Given the description of an element on the screen output the (x, y) to click on. 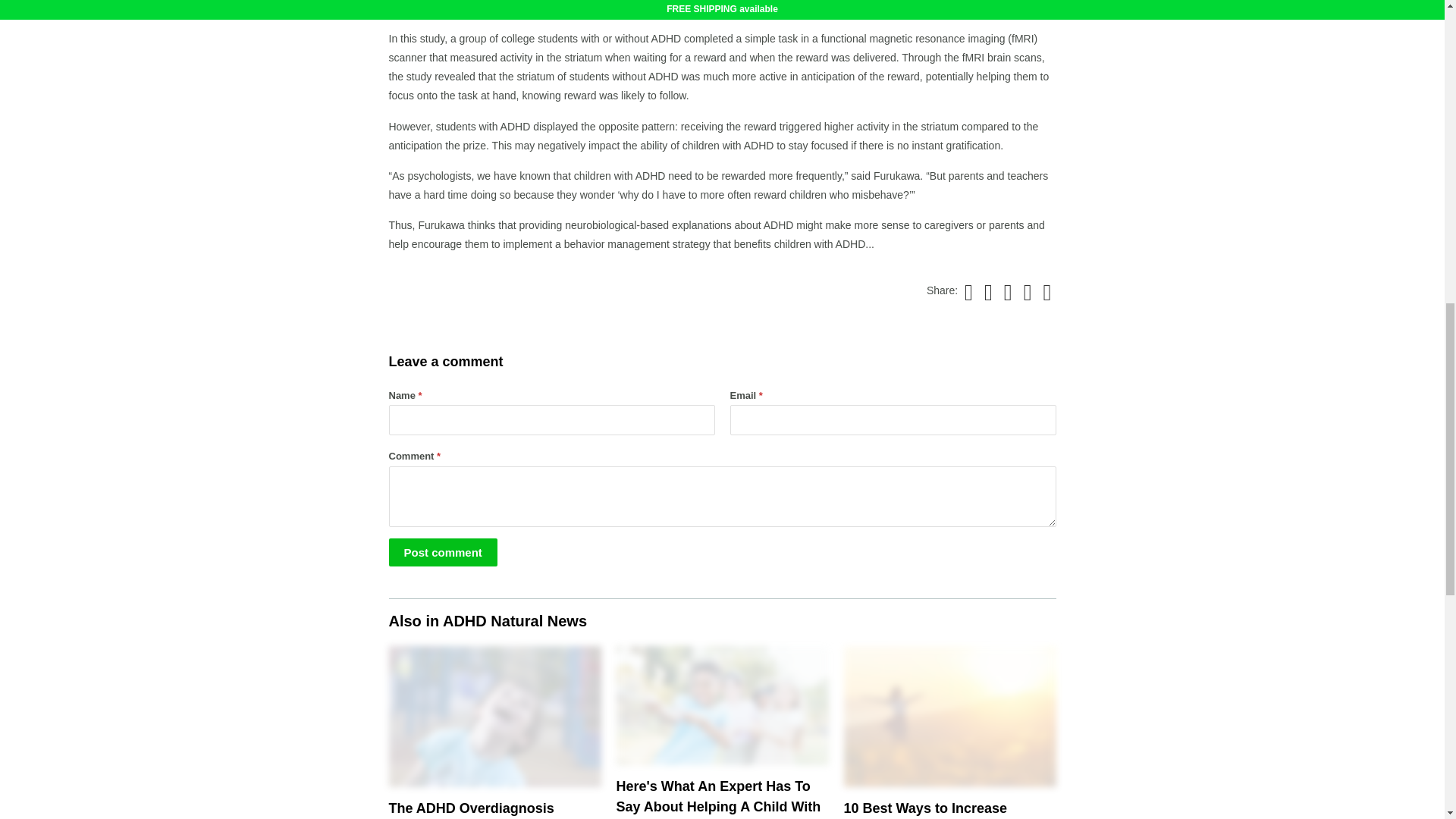
Post comment (442, 552)
